Given the description of an element on the screen output the (x, y) to click on. 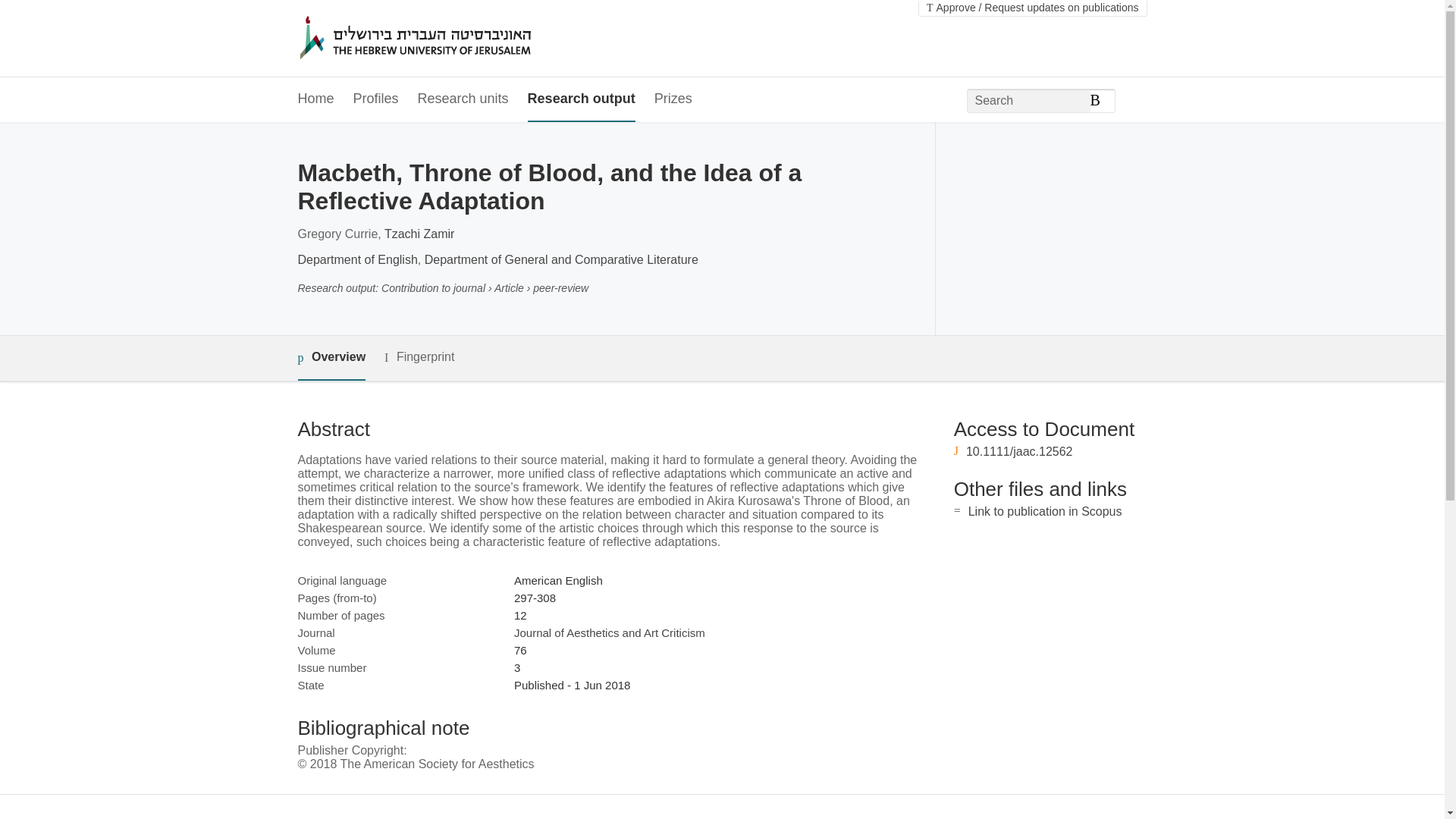
Department of English (356, 259)
Research output (580, 99)
Tzachi Zamir (419, 233)
Profiles (375, 99)
Journal of Aesthetics and Art Criticism (608, 632)
Link to publication in Scopus (1045, 511)
The Hebrew University of Jerusalem Home (447, 38)
Department of General and Comparative Literature (561, 259)
Research units (462, 99)
